Given the description of an element on the screen output the (x, y) to click on. 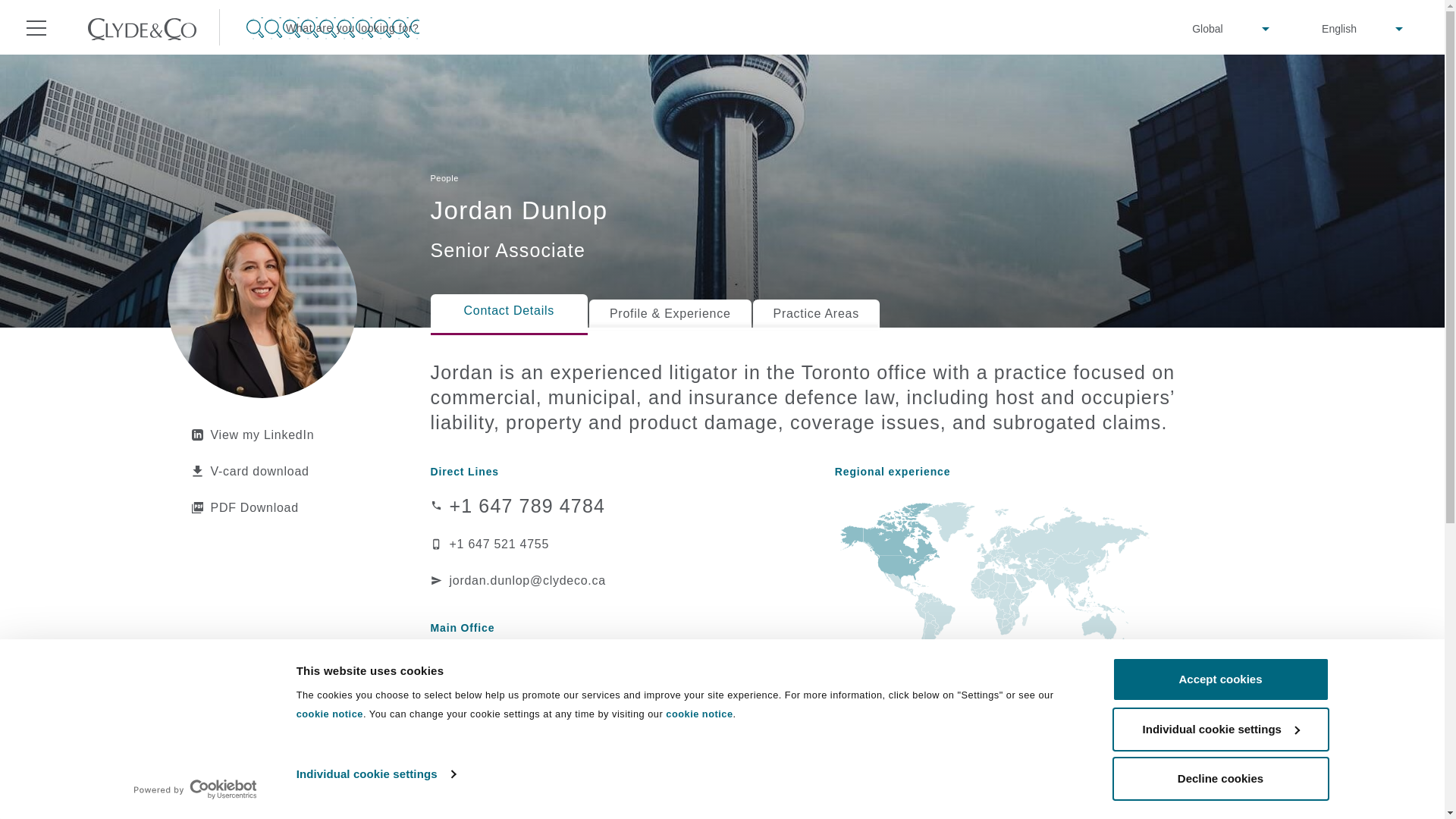
Individual cookie settings (375, 773)
cookie notice (698, 713)
cookie notice (329, 713)
